Given the description of an element on the screen output the (x, y) to click on. 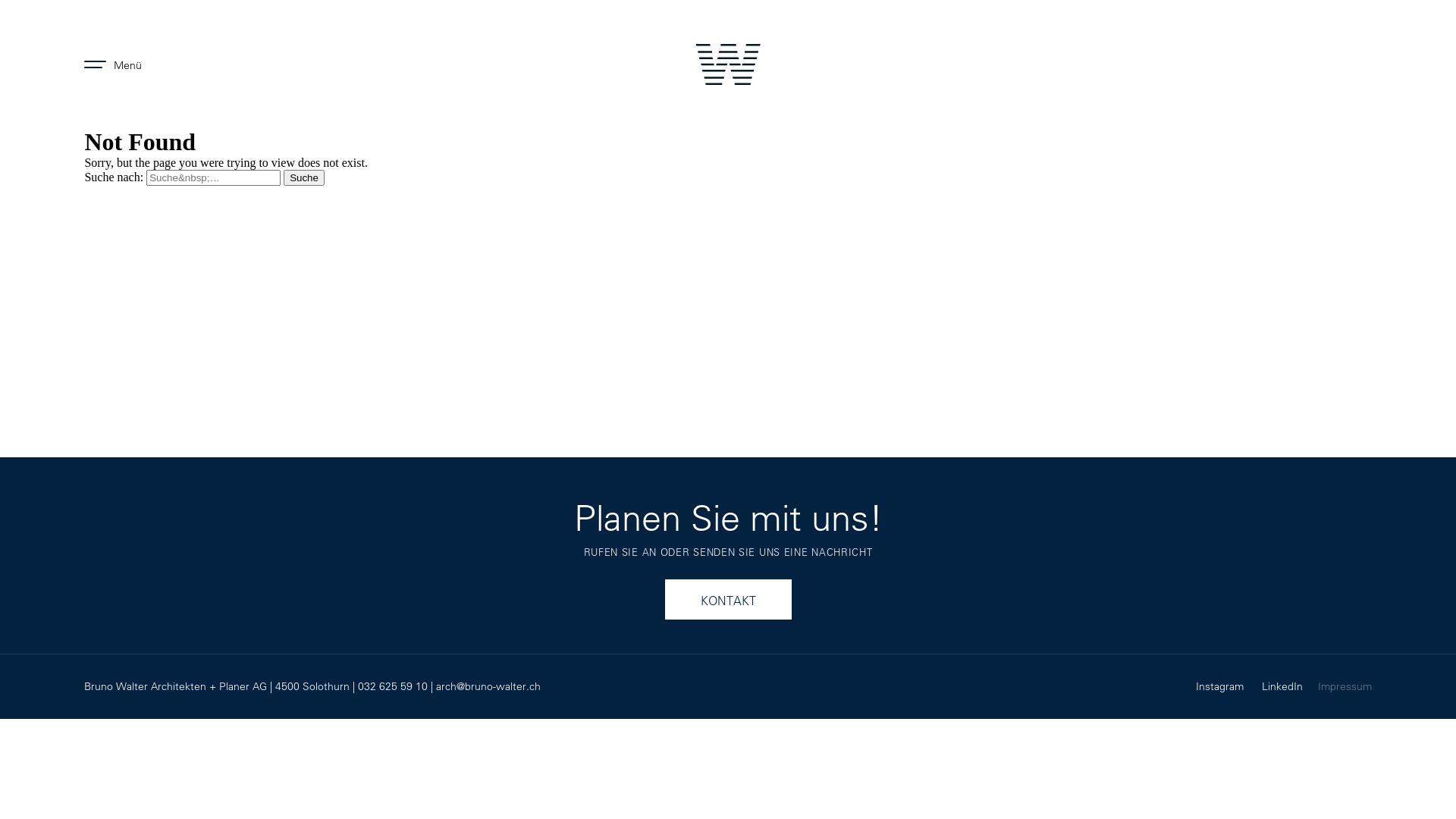
Instagram Element type: text (1228, 686)
arch@bruno-walter.ch Element type: text (488, 686)
LinkedIn Element type: text (1289, 686)
Impressum Element type: text (1344, 686)
Suche Element type: text (303, 177)
032 625 59 10 Element type: text (392, 686)
KONTAKT Element type: text (727, 599)
